Given the description of an element on the screen output the (x, y) to click on. 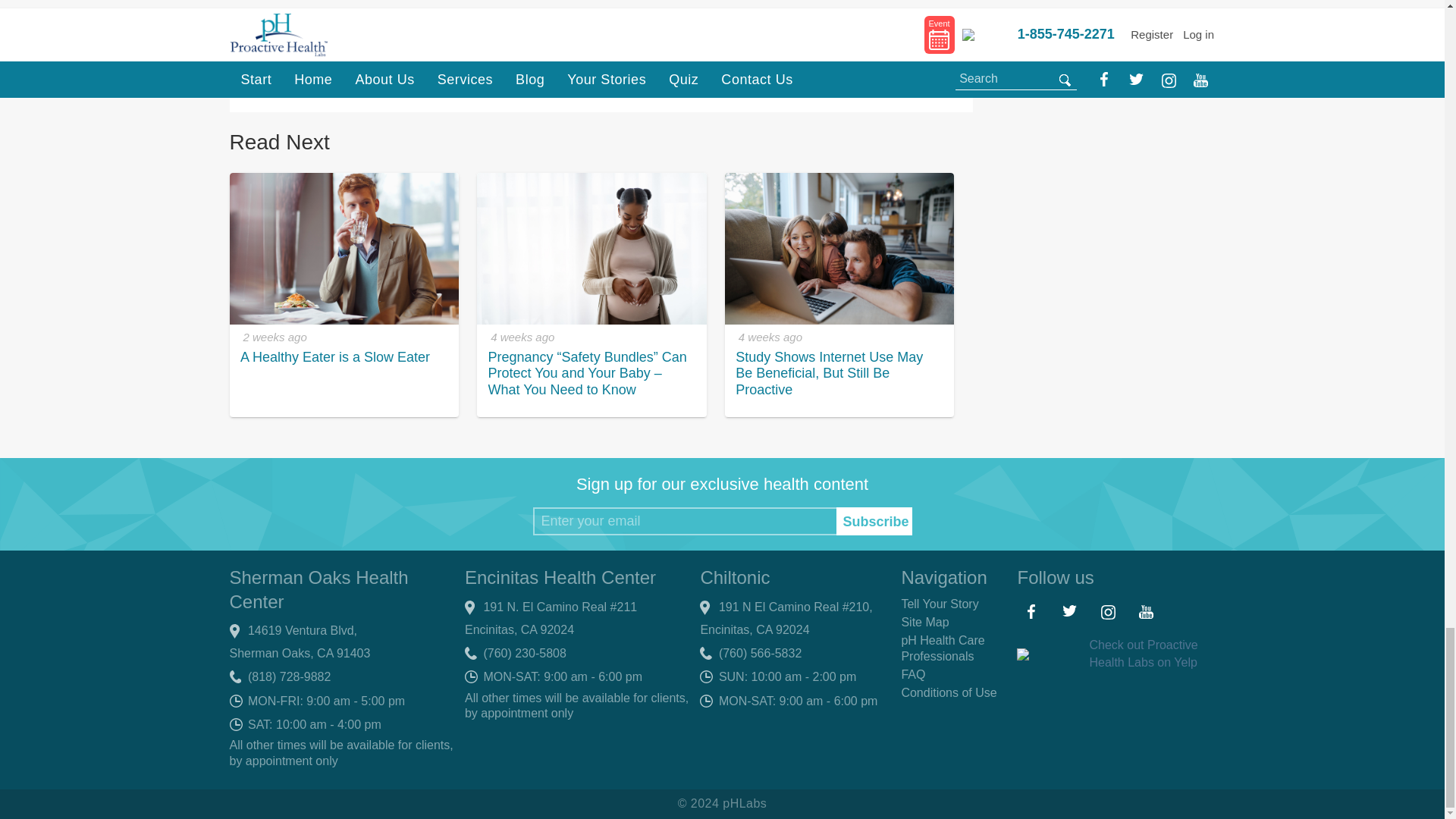
Subscribe (873, 520)
A Healthy Eater is a Slow Eater (343, 248)
